Given the description of an element on the screen output the (x, y) to click on. 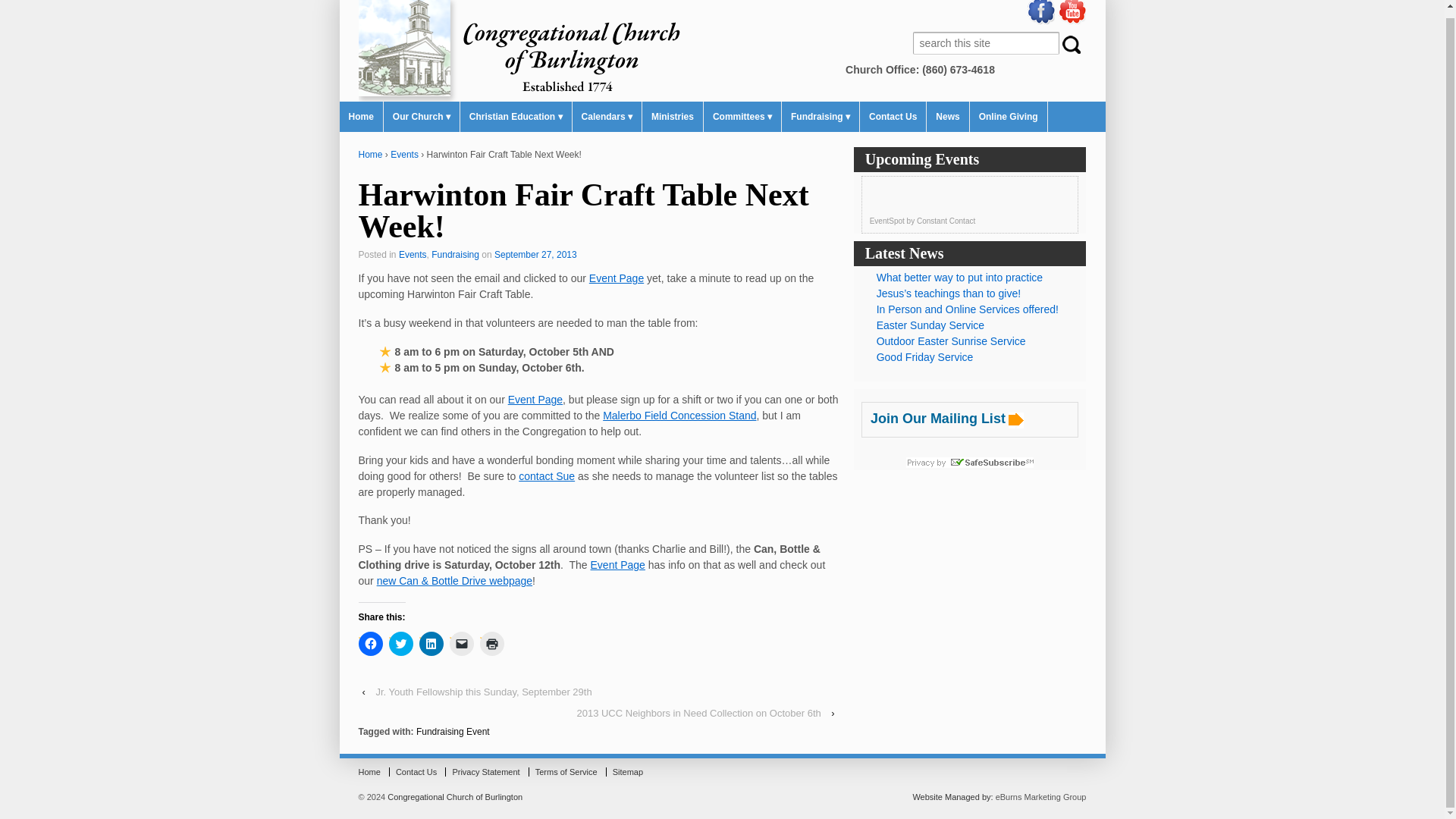
Go (1072, 43)
News (947, 116)
Events (412, 254)
web design, web security, WordPress custom design (952, 796)
Christian Education (516, 116)
Fundraising (454, 254)
Ministries (672, 116)
Committees (742, 116)
Contact Us (893, 116)
Events (404, 154)
